Given the description of an element on the screen output the (x, y) to click on. 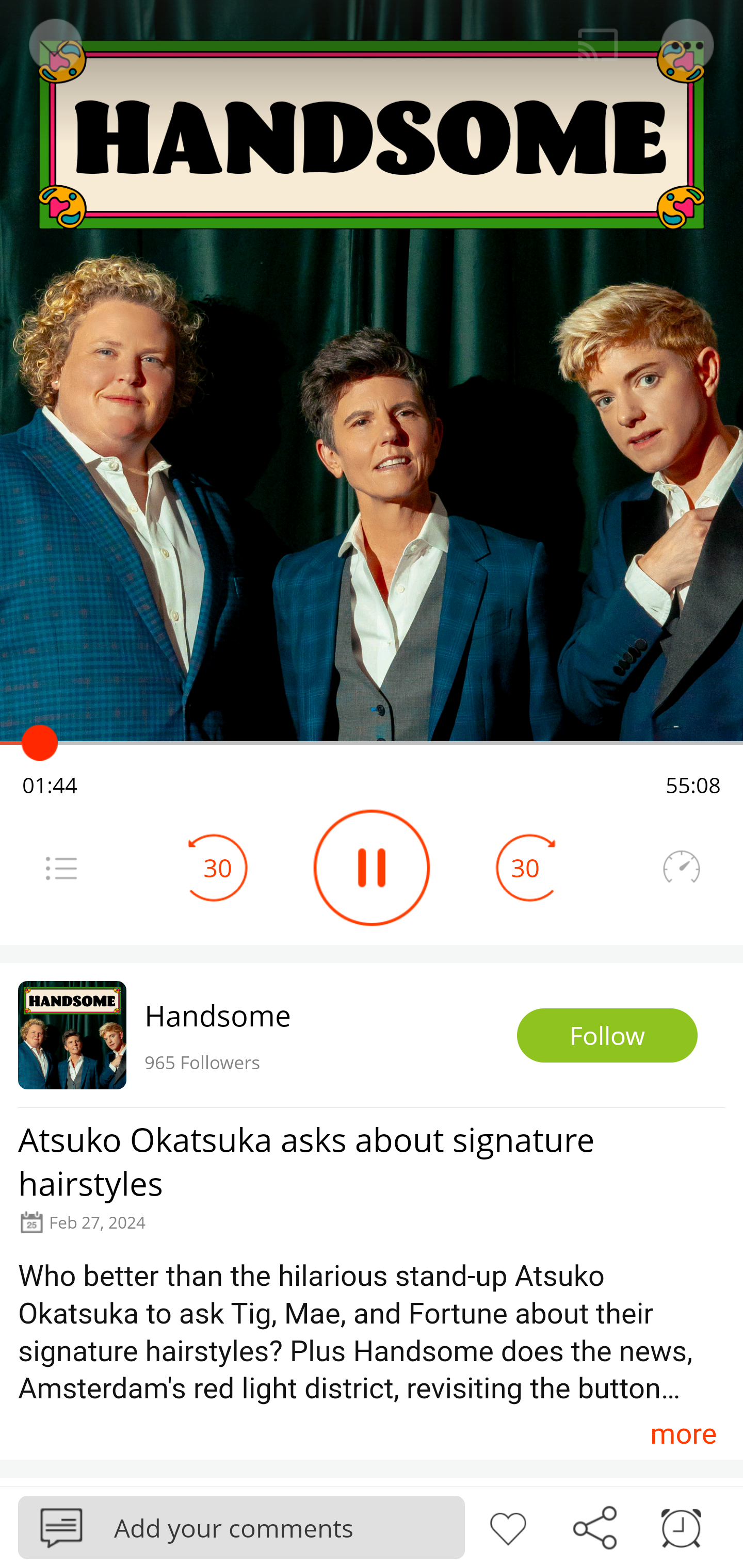
Back (53, 45)
Cast. Disconnected (597, 45)
Menu (688, 45)
Play (371, 867)
30 Seek Backward (217, 867)
30 Seek Forward (525, 867)
Menu (60, 867)
Speedometer (681, 867)
Handsome 965 Followers Follow (371, 1034)
Follow (607, 1035)
more (682, 1432)
Like (508, 1526)
Share (594, 1526)
Sleep timer (681, 1526)
Podbean Add your comments (241, 1526)
